Given the description of an element on the screen output the (x, y) to click on. 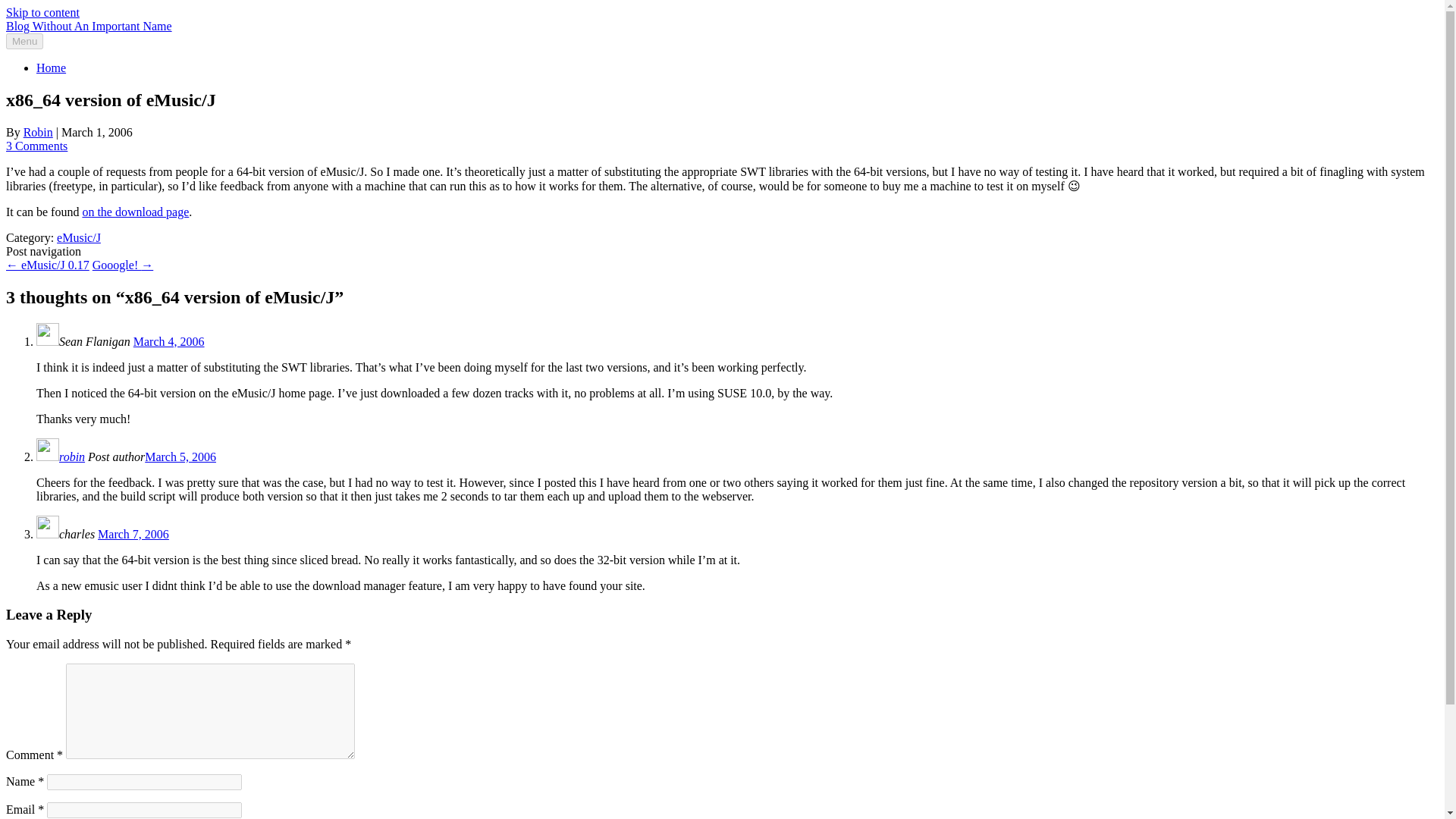
Skip to content (42, 11)
Robin (37, 132)
Skip to content (42, 11)
on the download page (135, 211)
March 4, 2006 (169, 341)
Blog Without An Important Name (88, 25)
March 5, 2006 (179, 456)
3 Comments (35, 145)
Posts by Robin (37, 132)
robin (71, 456)
